Given the description of an element on the screen output the (x, y) to click on. 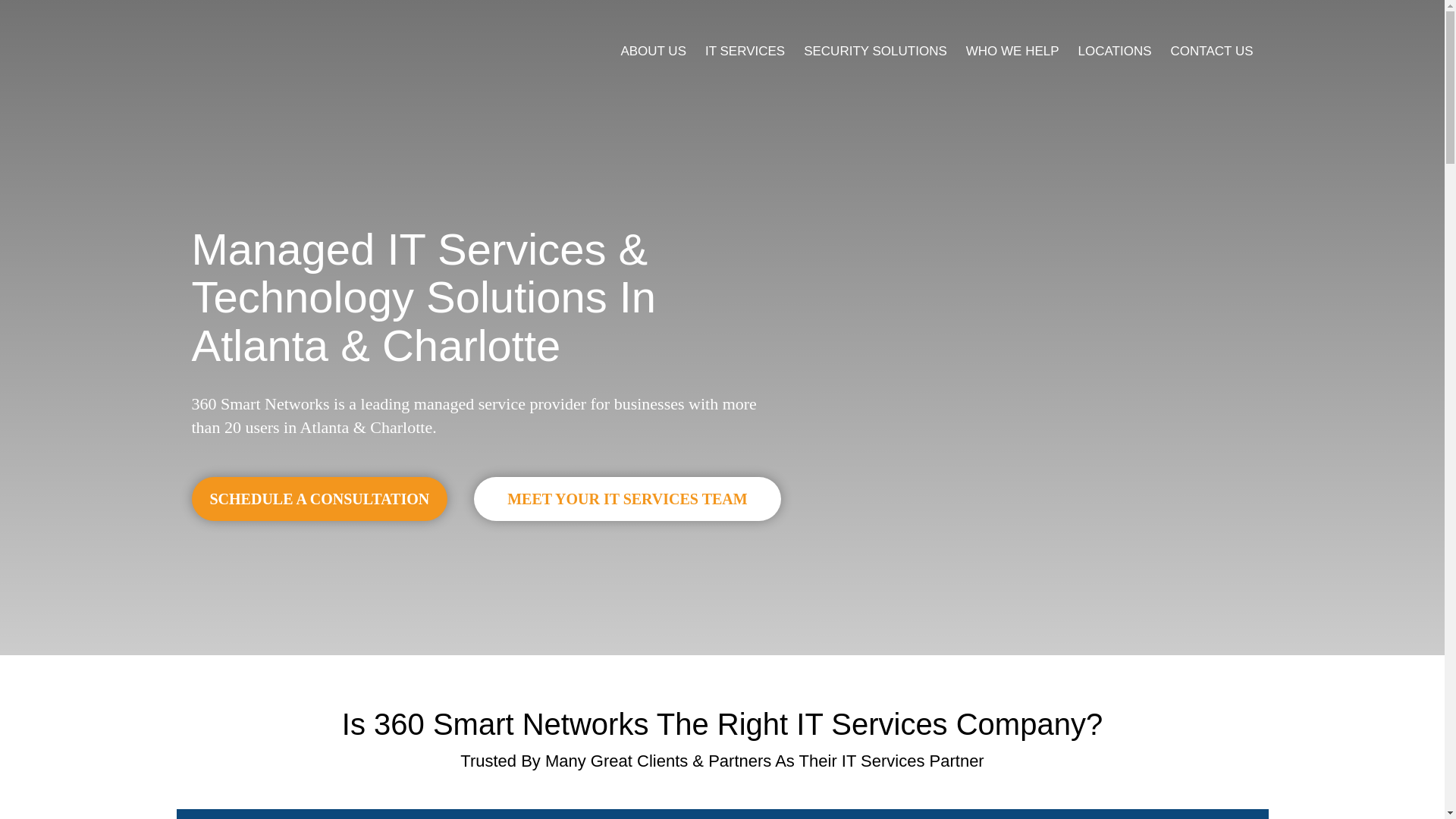
IT SERVICES Element type: text (744, 50)
SECURITY SOLUTIONS Element type: text (875, 50)
LOCATIONS Element type: text (1114, 50)
ABOUT US Element type: text (653, 50)
WHO WE HELP Element type: text (1012, 50)
SCHEDULE A CONSULTATION Element type: text (319, 498)
MEET YOUR IT SERVICES TEAM Element type: text (626, 498)
CONTACT US Element type: text (1211, 50)
